Given the description of an element on the screen output the (x, y) to click on. 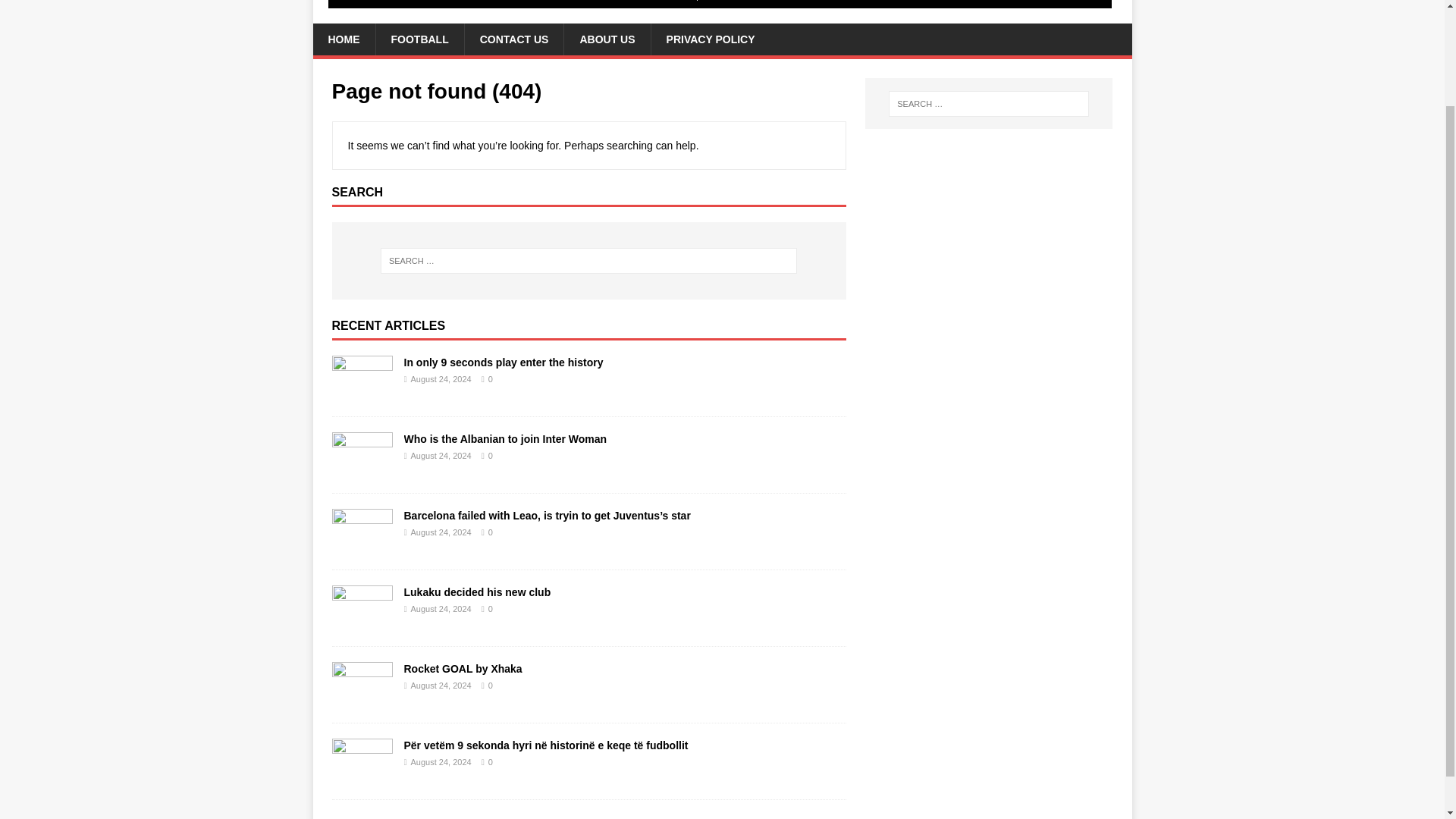
In only 9 seconds play enter the history (502, 362)
Who is the Albanian to join Inter Woman (505, 439)
FOOTBALL (418, 39)
In only 9 seconds play enter the history (362, 391)
HOME (343, 39)
Rocket GOAL by Xhaka (362, 698)
Who is the Albanian to join Inter Woman (505, 439)
Lukaku decided his new club (476, 592)
Rocket GOAL by Xhaka (462, 668)
CONTACT US (514, 39)
